Given the description of an element on the screen output the (x, y) to click on. 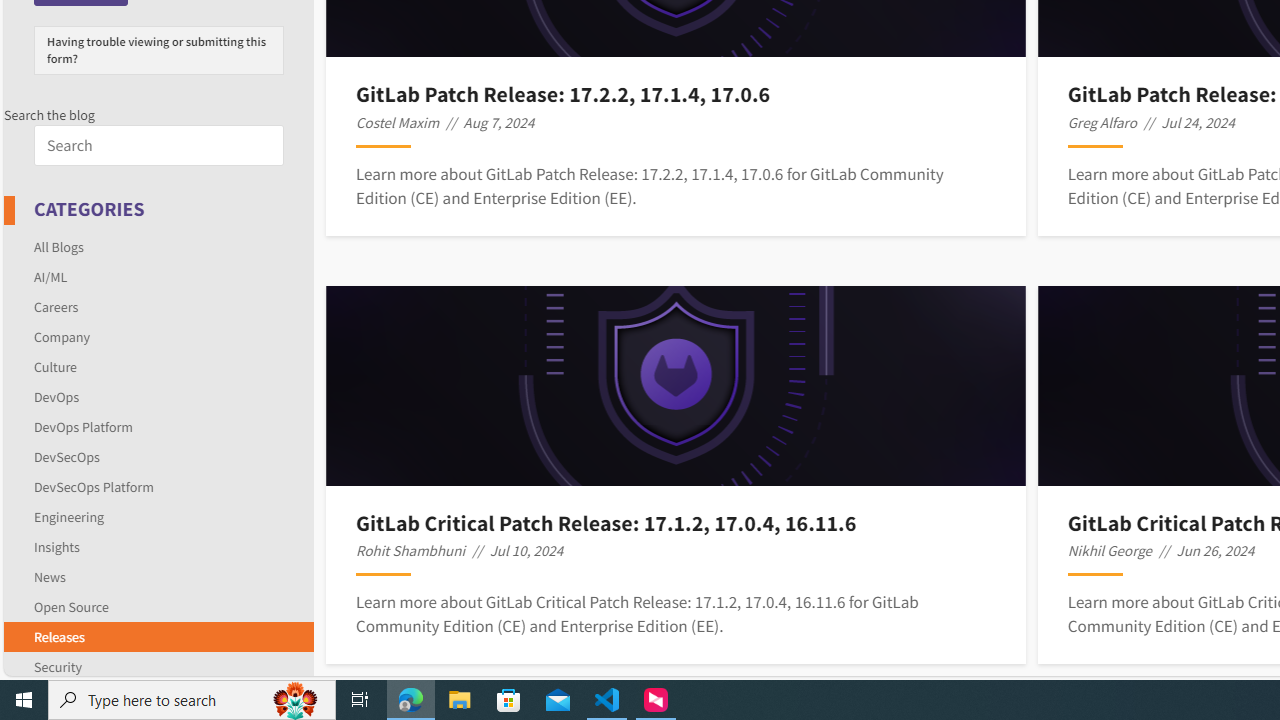
Engineering (69, 515)
DevSecOps (158, 456)
Rohit Shambhuni (410, 550)
Costel Maxim (397, 121)
AI/ML (50, 276)
DevOps Platform (158, 426)
Company (62, 335)
DevSecOps (66, 456)
Open Source (158, 606)
